Given the description of an element on the screen output the (x, y) to click on. 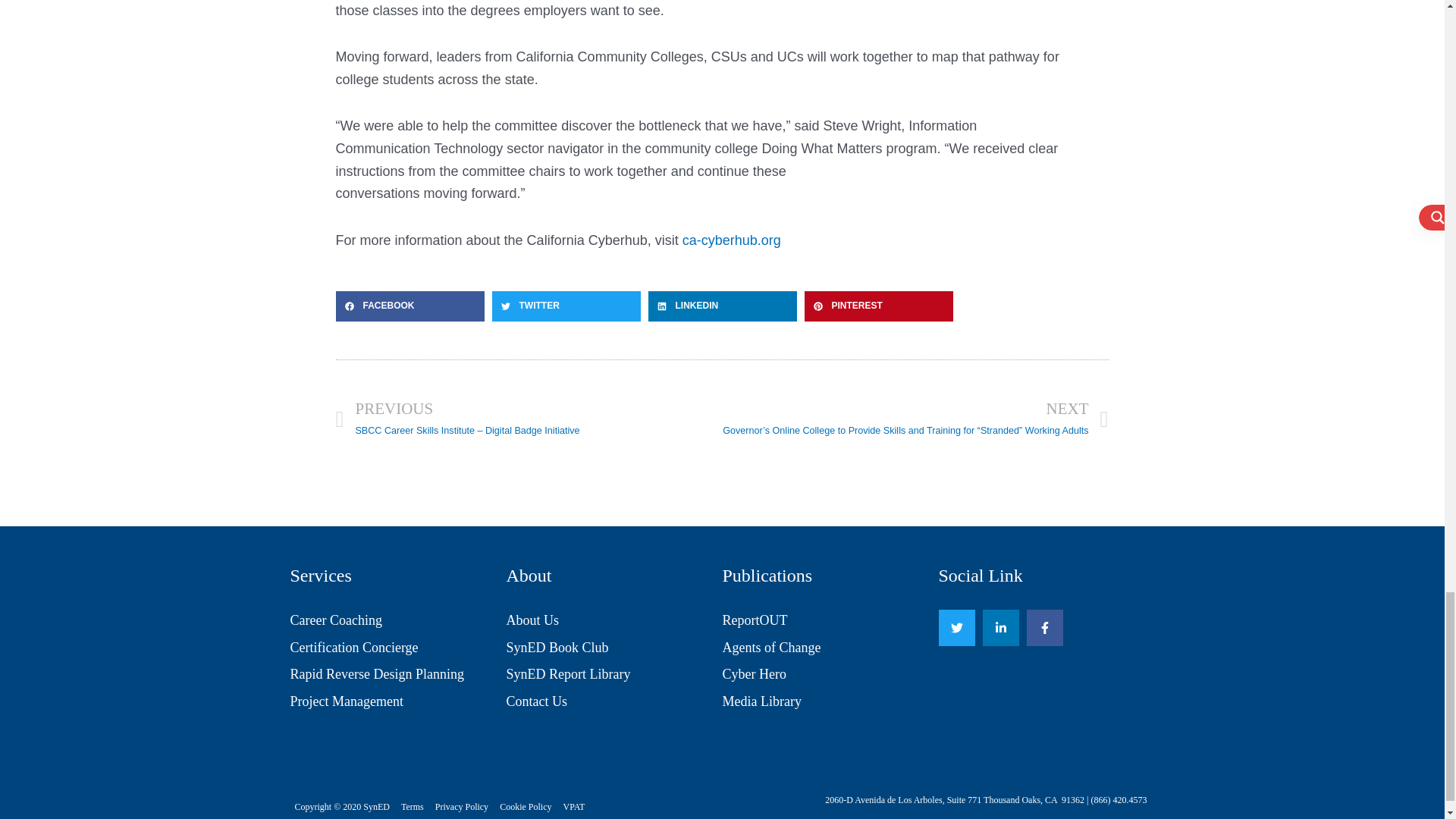
SynED Book Club (614, 648)
About (528, 575)
Contact Us (614, 702)
Publications (767, 575)
Project Management (397, 702)
SynED Report Library (614, 674)
About Us (614, 620)
Career Coaching (397, 620)
Services (319, 575)
Cyber Hero (829, 674)
